Given the description of an element on the screen output the (x, y) to click on. 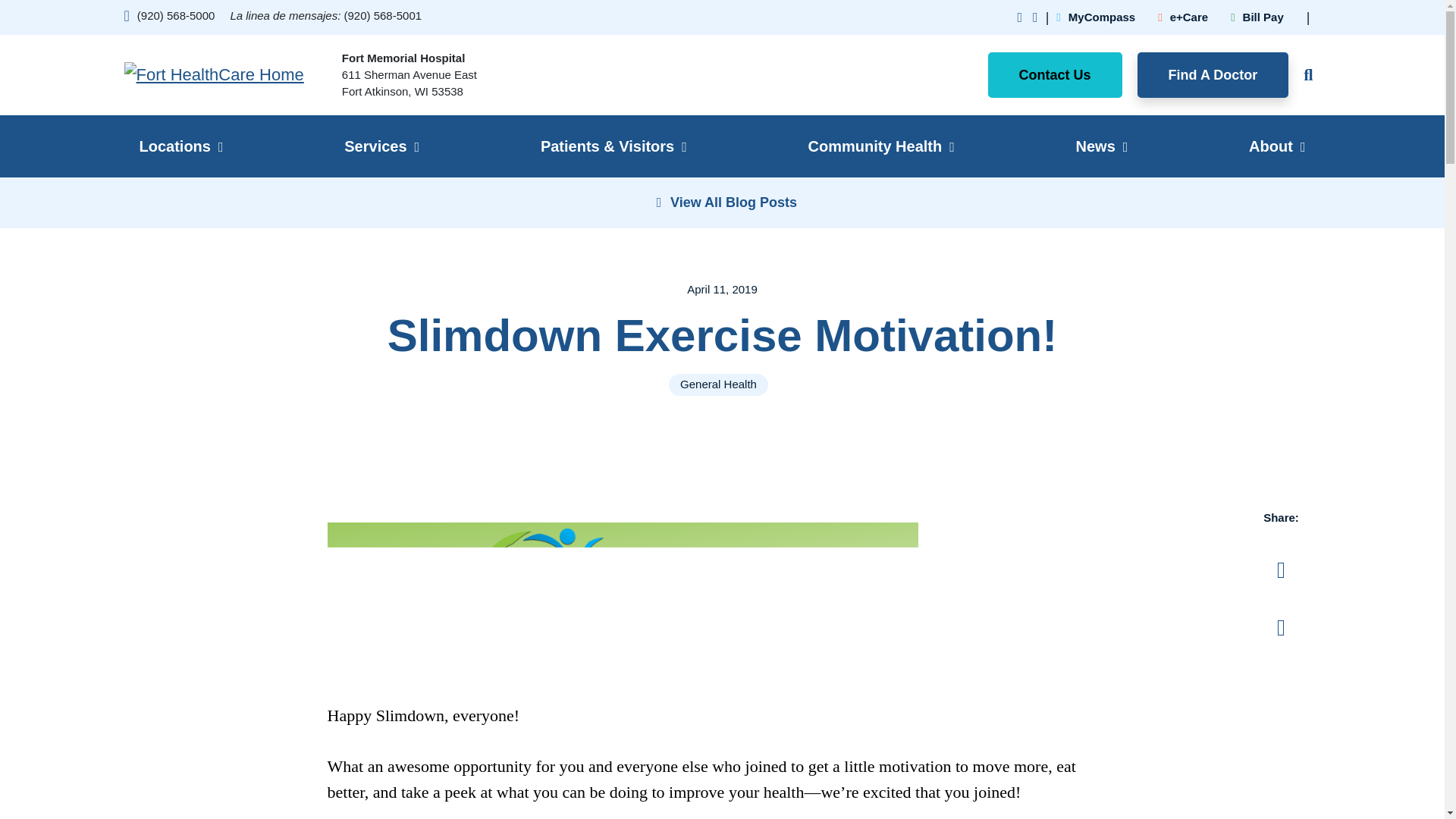
Services (381, 146)
MyCompass (1096, 16)
Find A Doctor (1212, 74)
Open Global Search (1304, 74)
Contact Us (1055, 74)
Bill Pay (1257, 16)
Locations (180, 146)
